Given the description of an element on the screen output the (x, y) to click on. 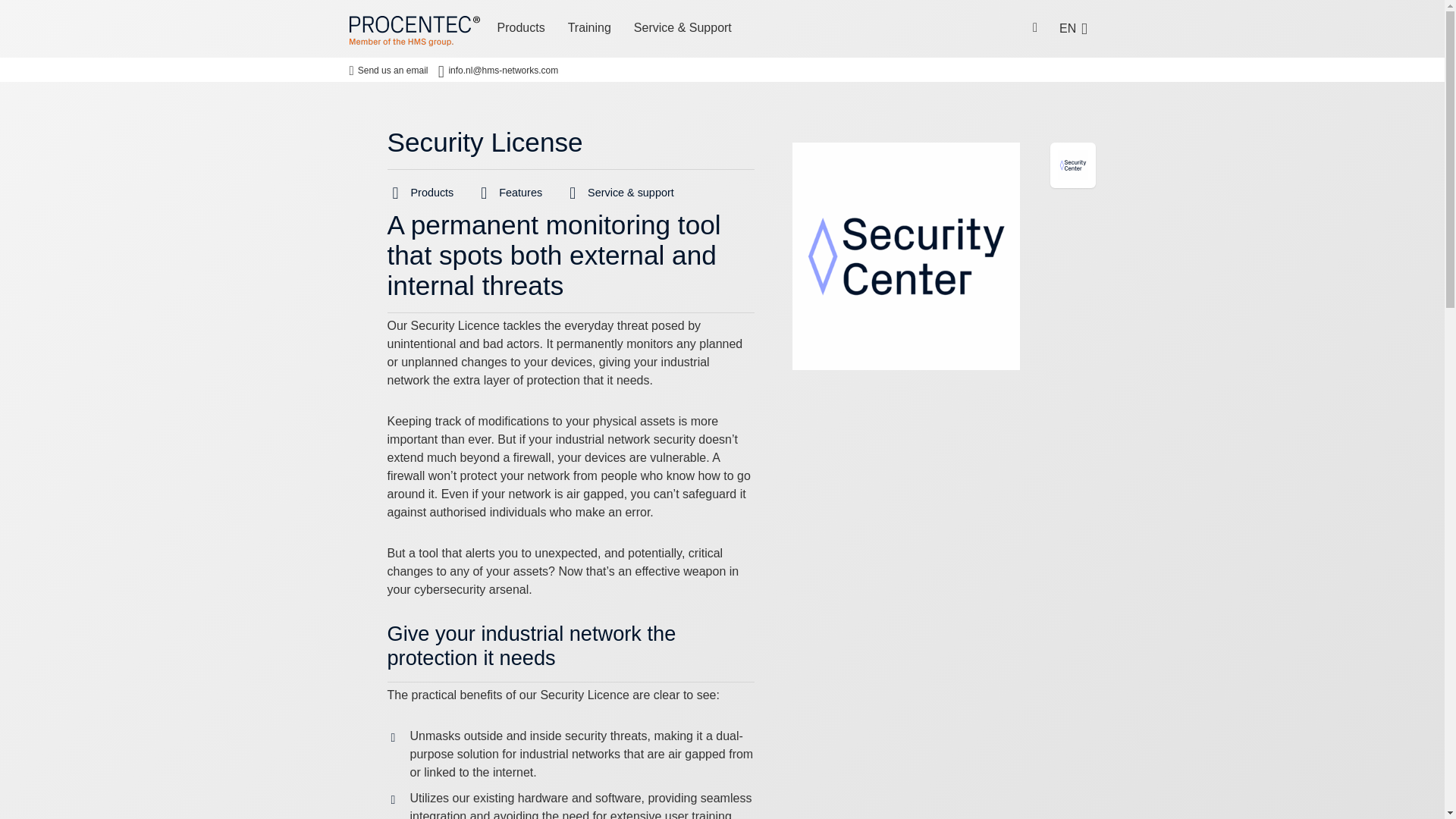
Products (520, 28)
Training (589, 28)
Products (520, 28)
Products (432, 194)
Features (520, 194)
Training (589, 28)
